Given the description of an element on the screen output the (x, y) to click on. 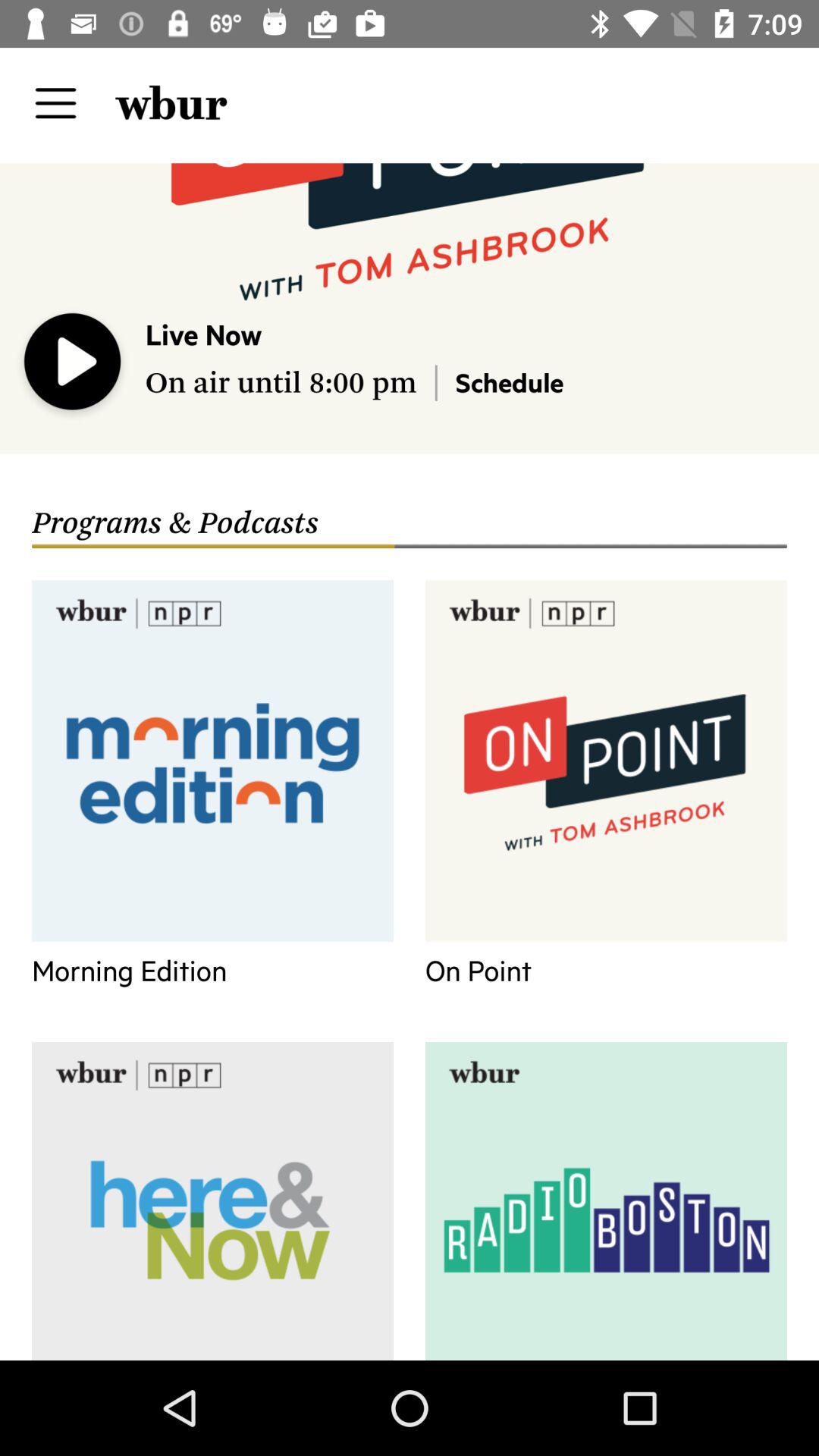
display menu (55, 103)
